Given the description of an element on the screen output the (x, y) to click on. 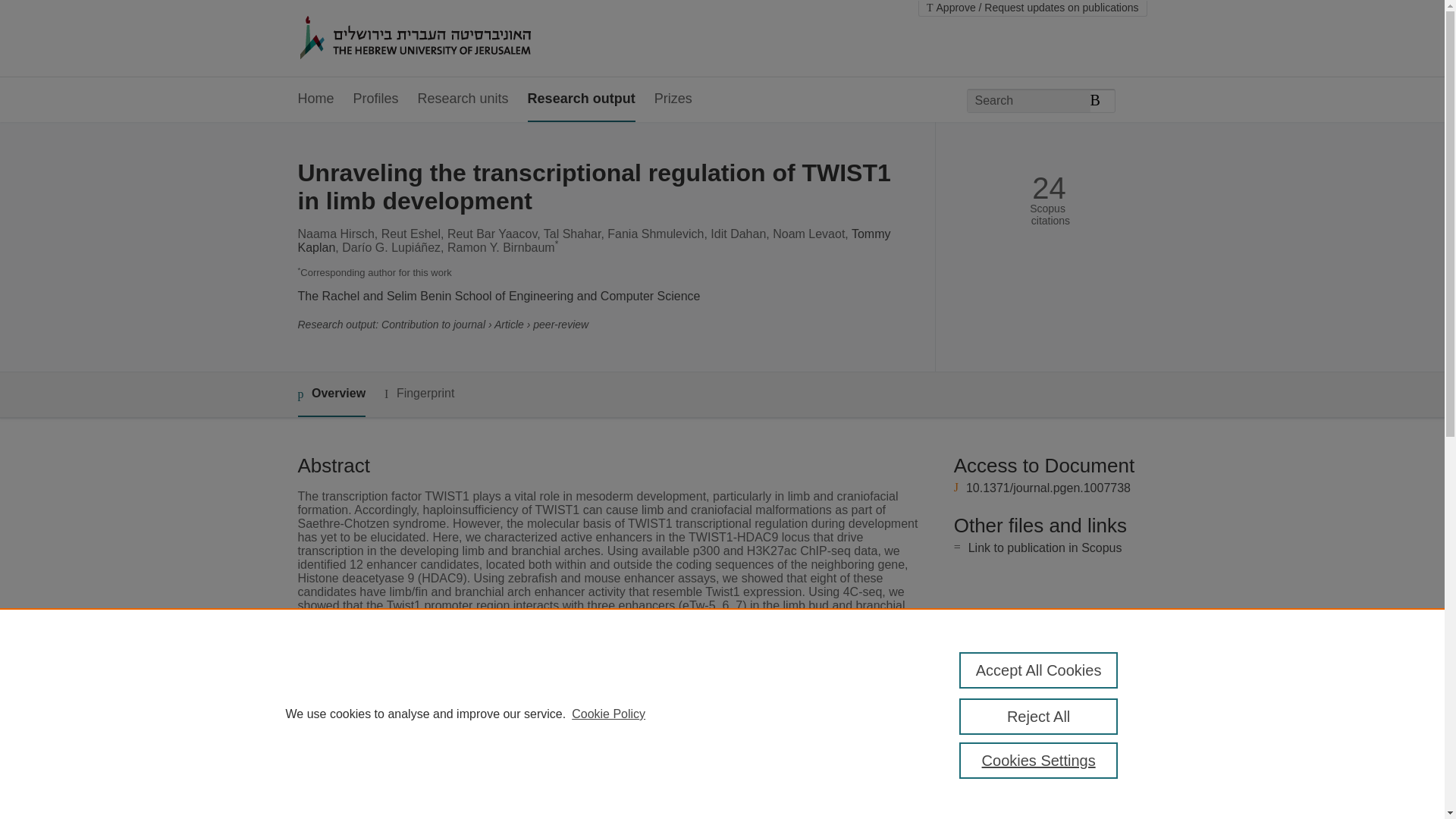
Research units (462, 99)
PLoS Genetics (551, 774)
Cookie Policy (608, 713)
The Hebrew University of Jerusalem Home (447, 38)
Overview (331, 394)
Cookies Settings (1038, 760)
Link to publication in Scopus (1045, 547)
Research output (580, 99)
